Given the description of an element on the screen output the (x, y) to click on. 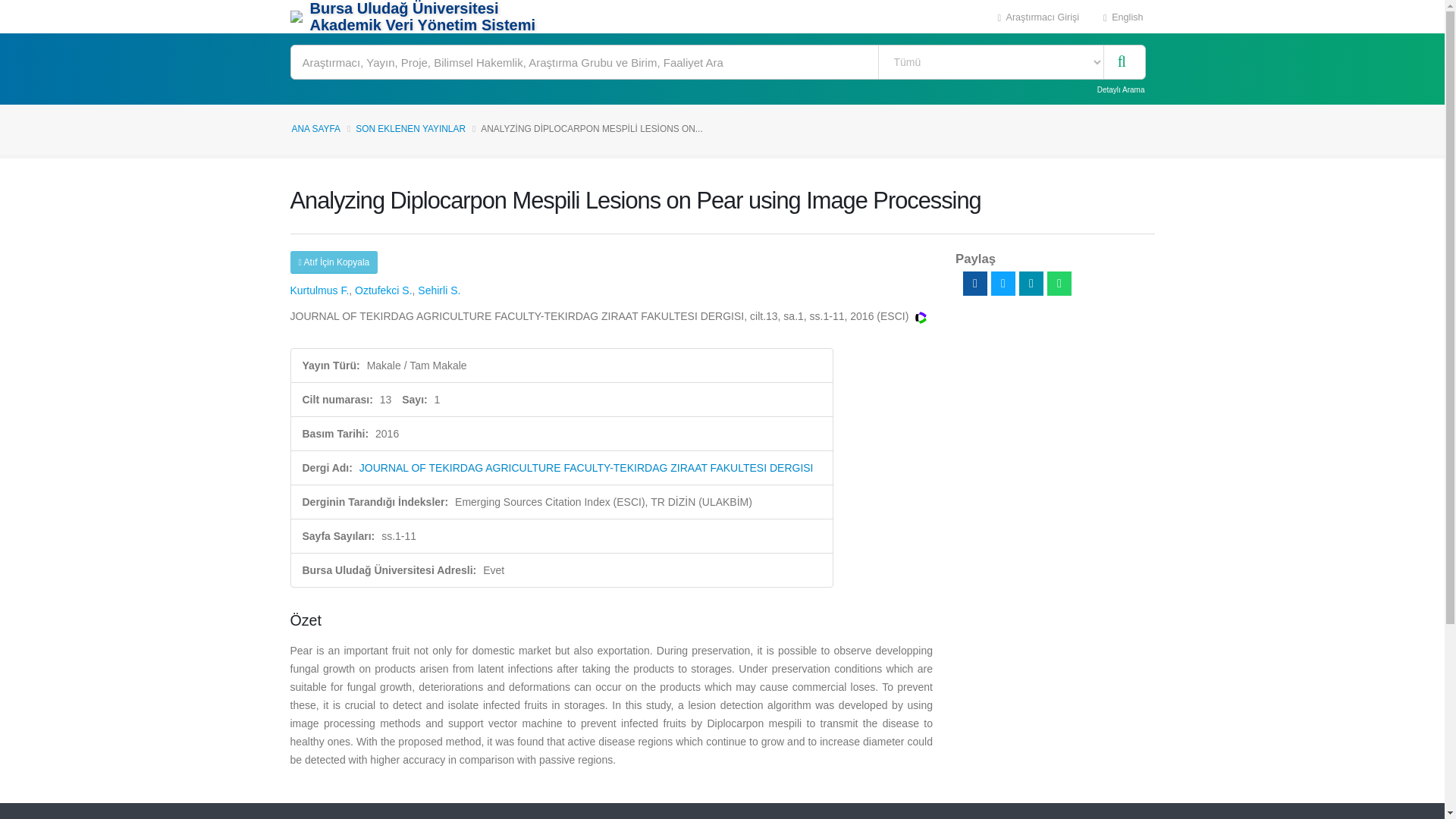
F. Kurtulmus (319, 290)
SON EKLENEN YAYINLAR (410, 128)
S. Sehirli (438, 290)
Kurtulmus F. (319, 290)
Sehirli S. (438, 290)
S. Oztufekci (383, 290)
ANA SAYFA (315, 128)
Oztufekci S. (383, 290)
English (1123, 17)
